Given the description of an element on the screen output the (x, y) to click on. 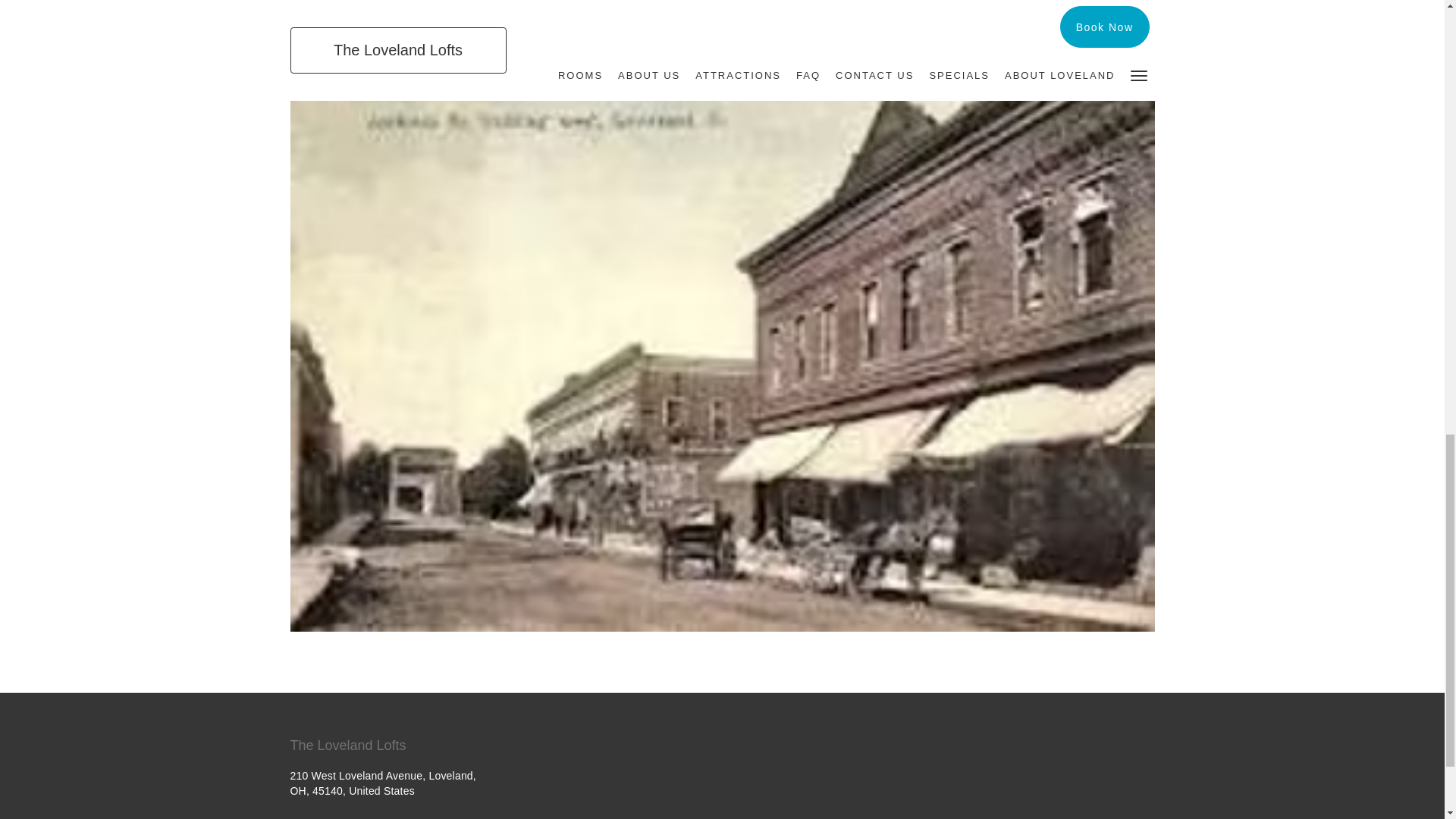
210 West Loveland Avenue, Loveland, OH, 45140, United States (382, 782)
